Given the description of an element on the screen output the (x, y) to click on. 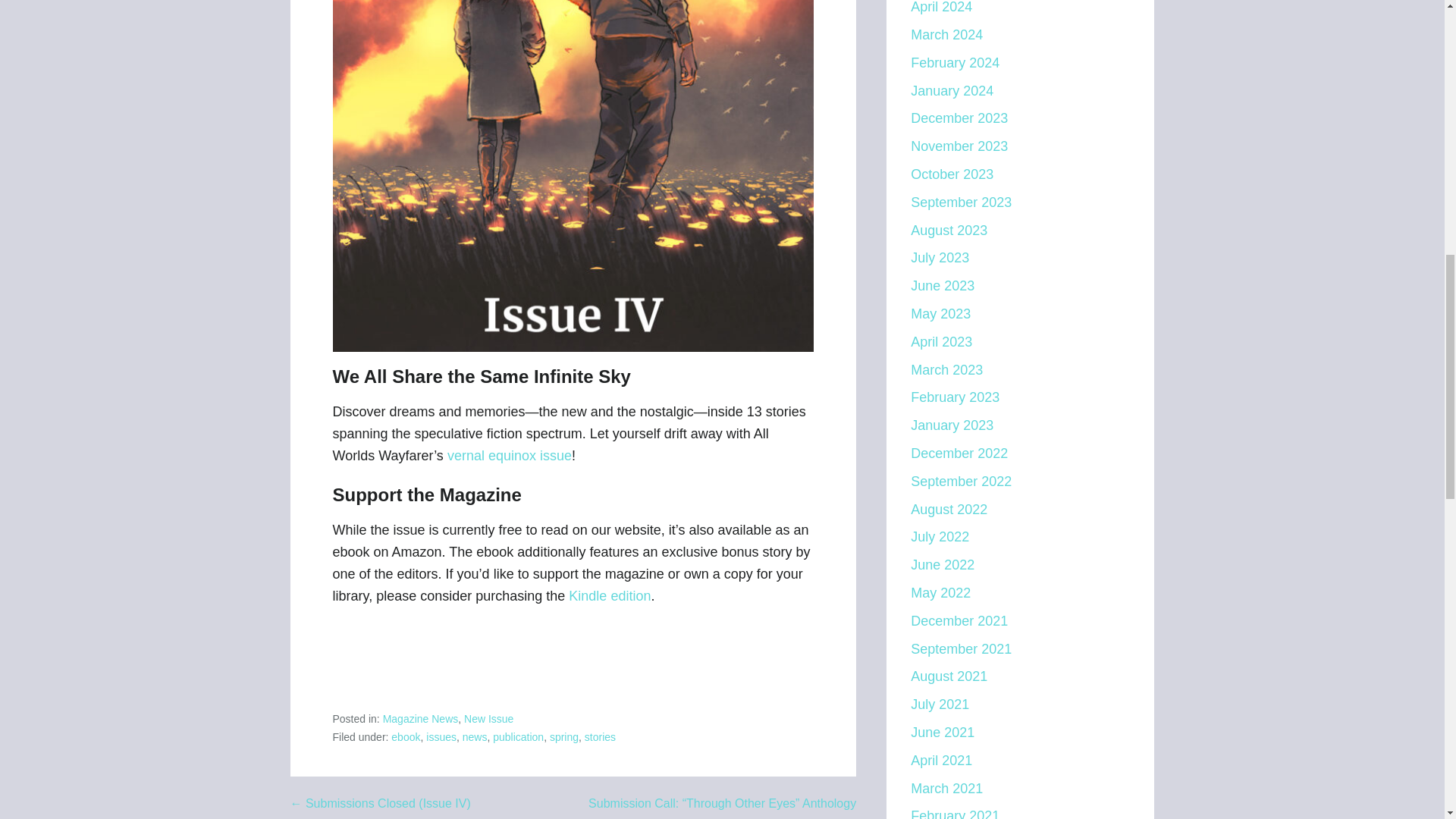
ebook (405, 736)
issues (441, 736)
publication (518, 736)
news (475, 736)
New Issue (488, 718)
spring (564, 736)
Magazine News (420, 718)
stories (600, 736)
Kindle edition (609, 595)
March 2024 (946, 34)
